Given the description of an element on the screen output the (x, y) to click on. 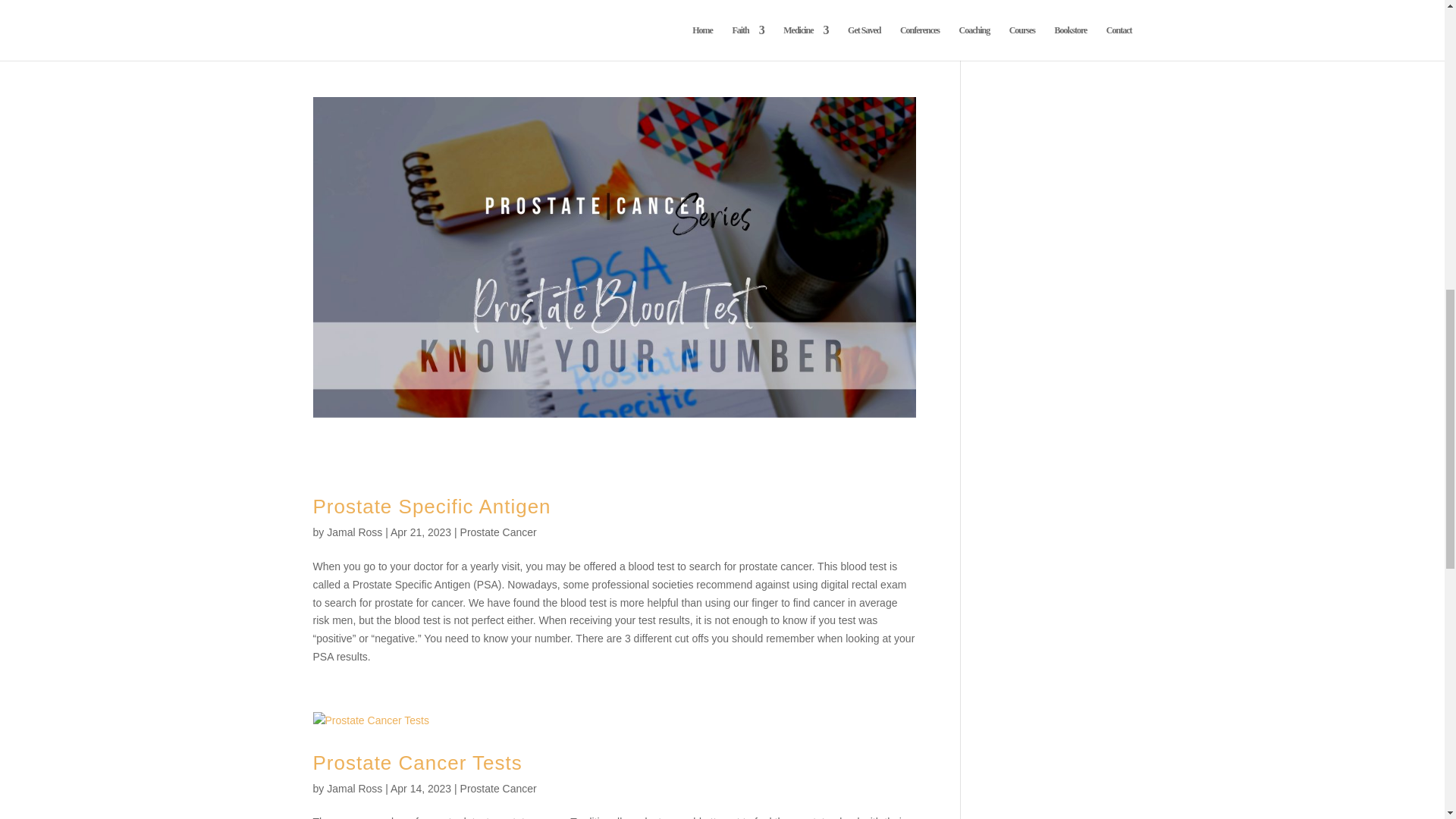
Prostate Cancer (498, 788)
Posts by Jamal Ross (353, 788)
Posts by Jamal Ross (353, 532)
Prostate Specific Antigen (431, 506)
Jamal Ross (353, 532)
Prostate Cancer Tests (417, 762)
Jamal Ross (353, 788)
Prostate Cancer (498, 532)
